Given the description of an element on the screen output the (x, y) to click on. 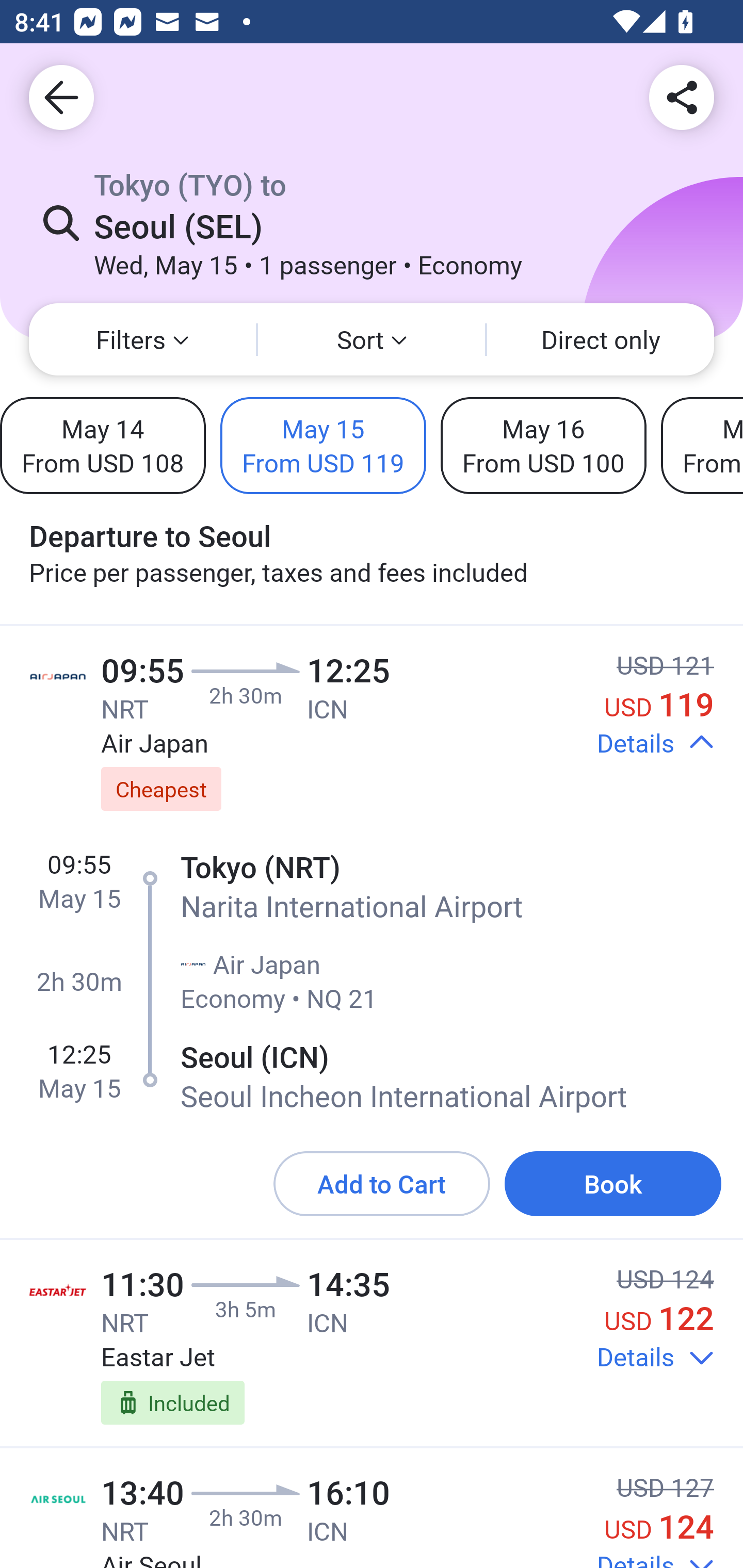
Filters (141, 339)
Sort (371, 339)
Direct only (600, 339)
May 14 From USD 108 (102, 444)
May 15 From USD 119 (323, 444)
May 16 From USD 100 (543, 444)
Add to Cart (381, 1183)
Book (612, 1183)
